Given the description of an element on the screen output the (x, y) to click on. 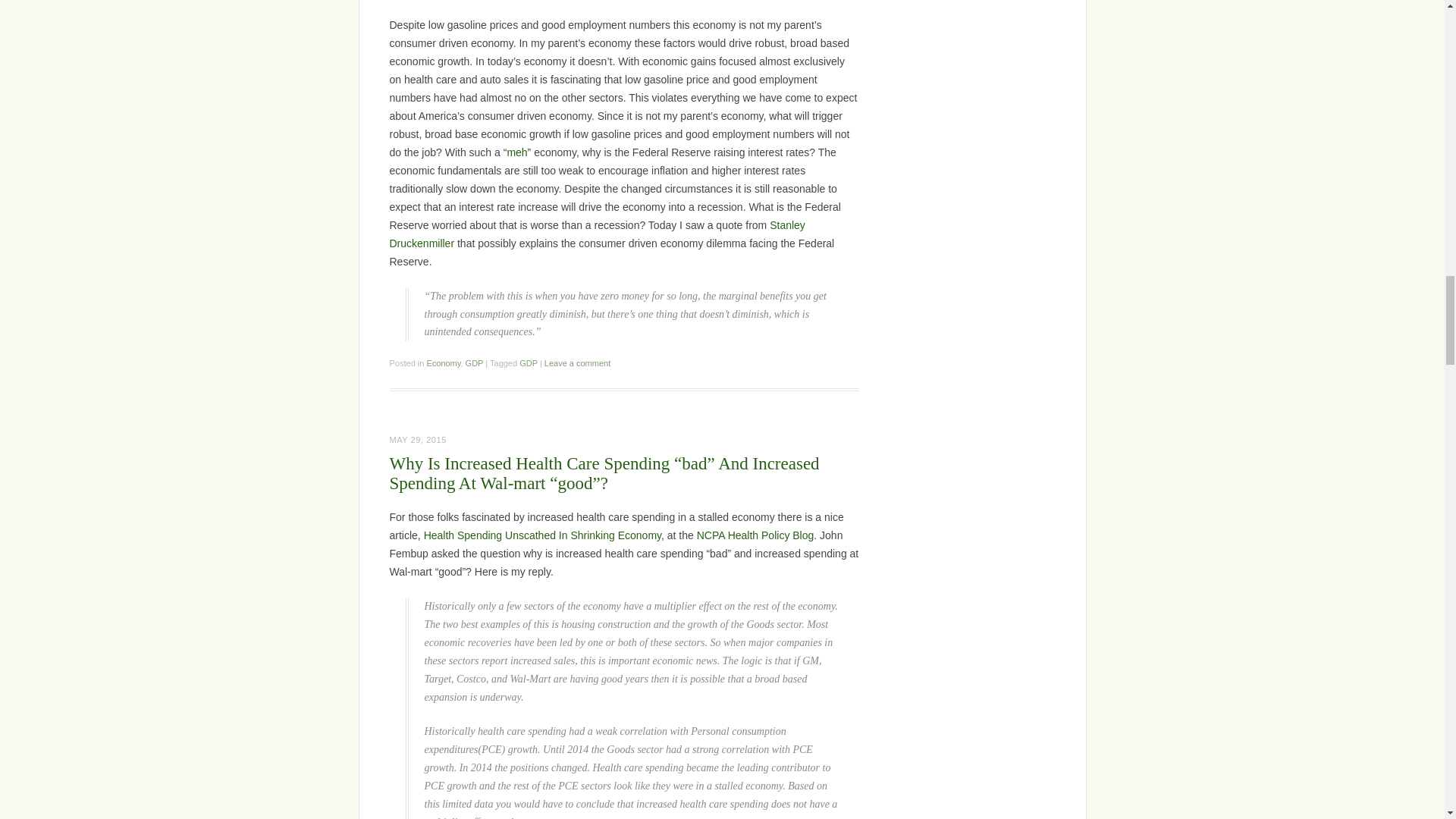
GDP (528, 362)
MAY 29, 2015 (418, 439)
Economy (443, 362)
4:18 pm (418, 439)
Stanley Druckenmiller (597, 234)
GDP (474, 362)
meh (516, 152)
Leave a comment (577, 362)
